Given the description of an element on the screen output the (x, y) to click on. 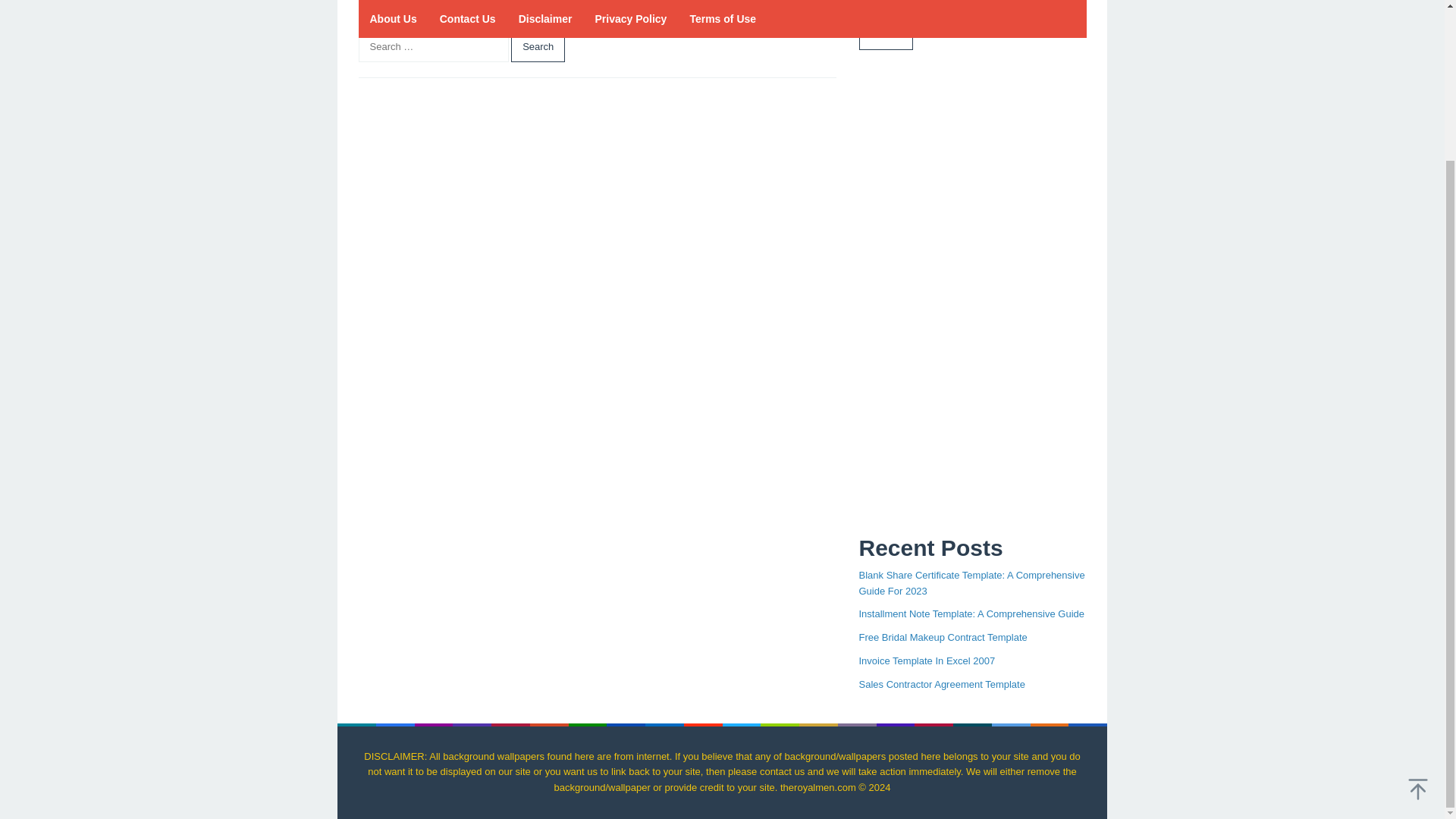
Invoice Template In Excel 2007 (926, 660)
Search (885, 34)
Search (537, 47)
Sales Contractor Agreement Template (942, 684)
Search (537, 47)
Installment Note Template: A Comprehensive Guide (971, 613)
Free Bridal Makeup Contract Template (942, 636)
Search (537, 47)
